Given the description of an element on the screen output the (x, y) to click on. 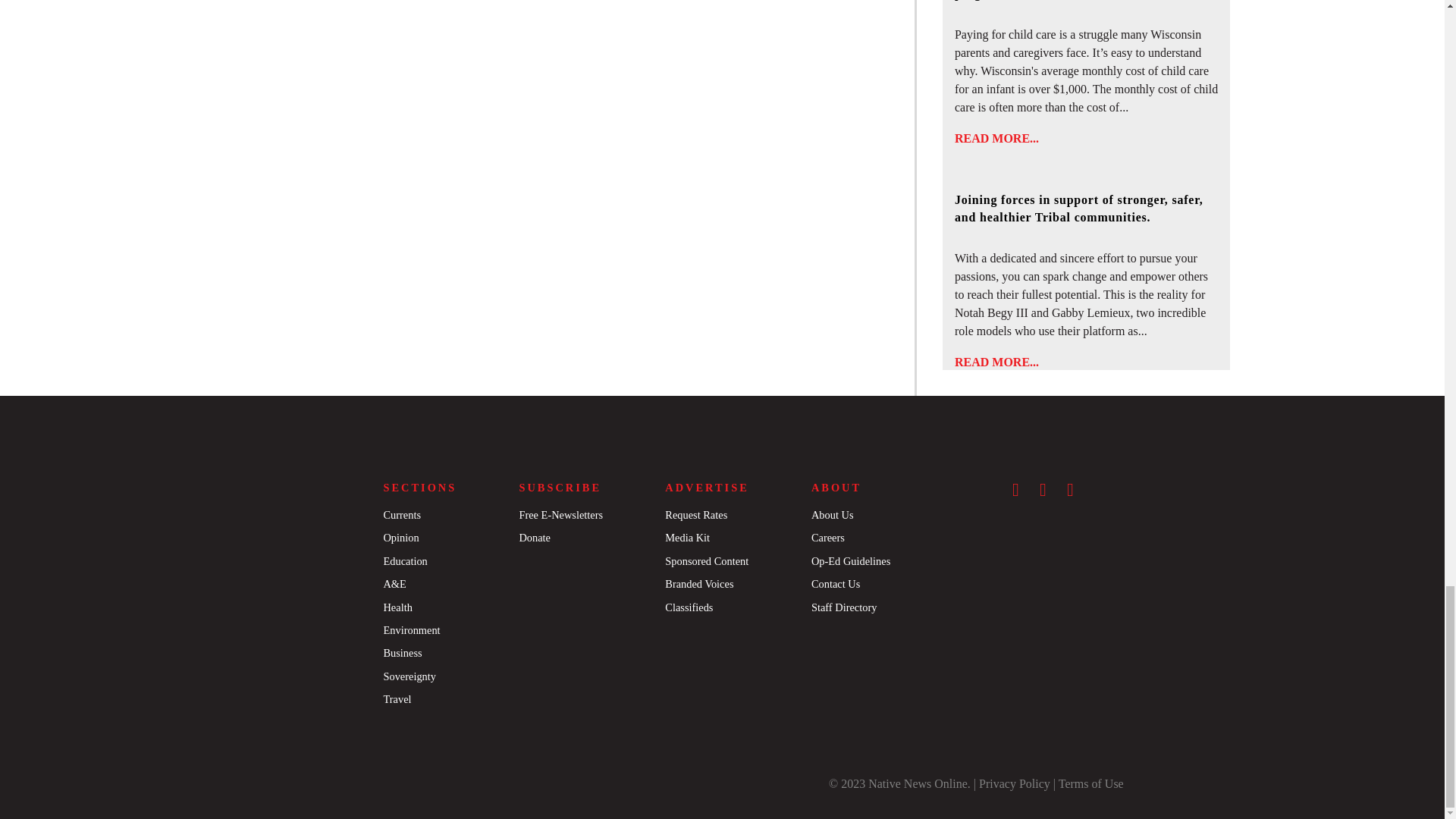
Travel (396, 698)
Education (404, 561)
Opinion (400, 537)
Currents (401, 514)
Donate (534, 537)
Free E-Newsletters (560, 514)
Business (402, 653)
Environment (410, 630)
Request Rates (695, 514)
Sovereignty (408, 676)
